Given the description of an element on the screen output the (x, y) to click on. 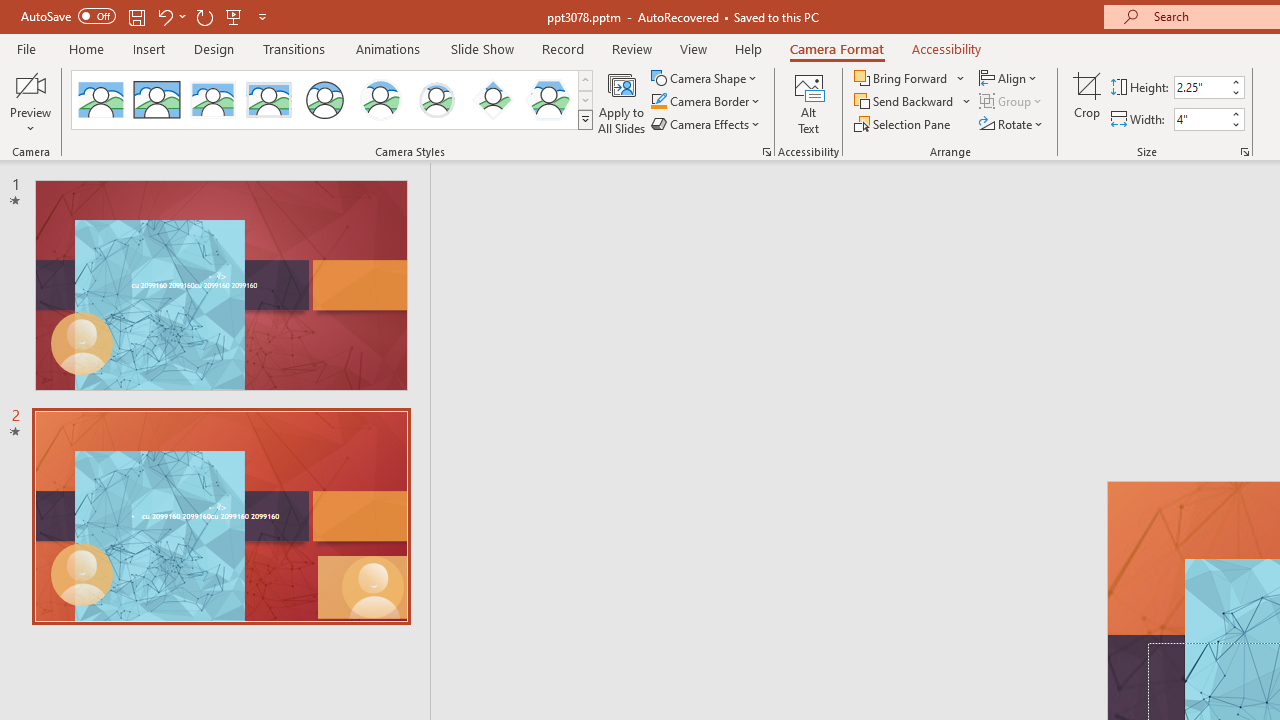
Soft Edge Rectangle (268, 100)
Group (1012, 101)
Center Shadow Diamond (492, 100)
Apply to All Slides (621, 102)
